Given the description of an element on the screen output the (x, y) to click on. 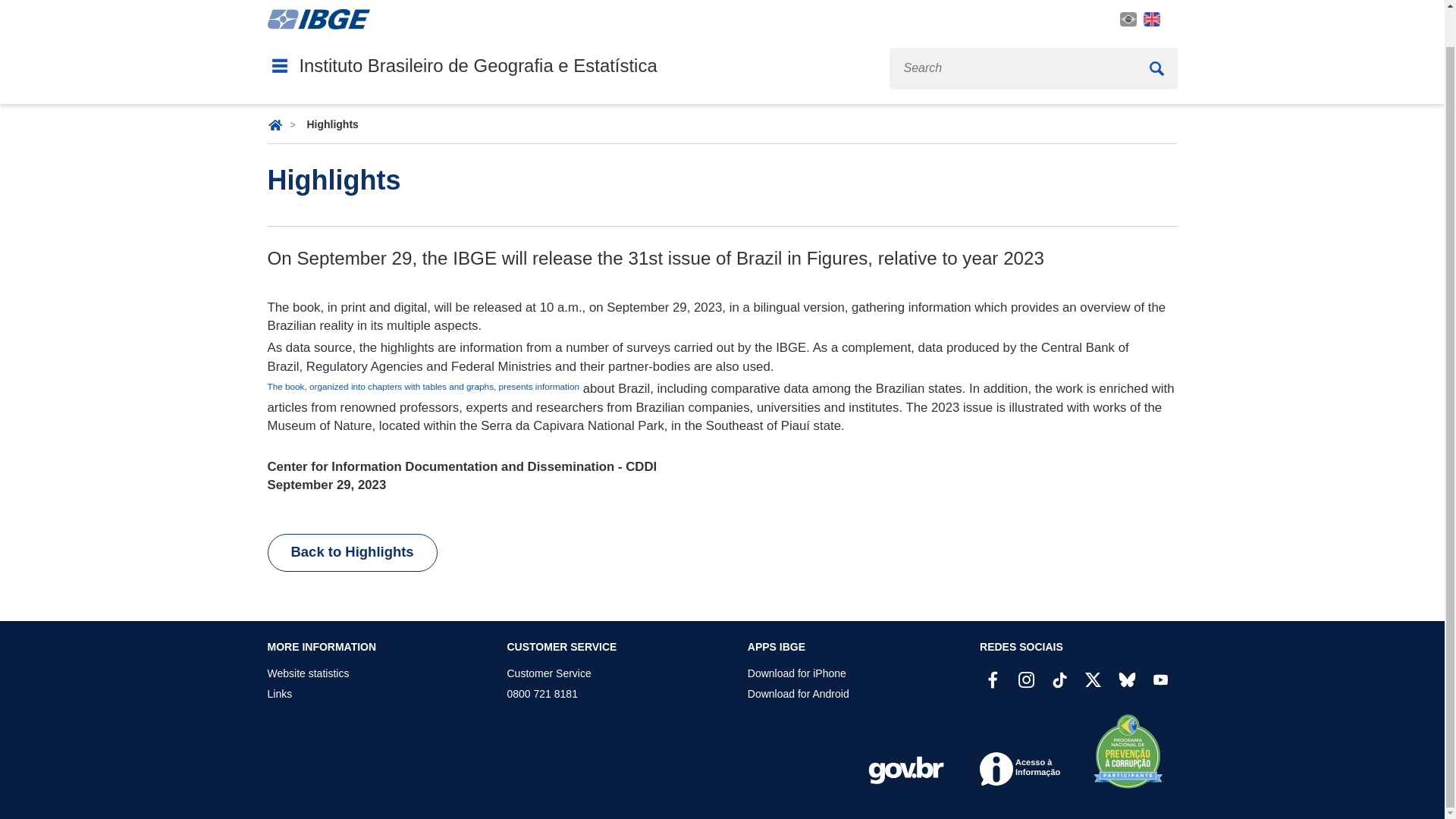
Twitter (1092, 680)
English (1151, 19)
